Given the description of an element on the screen output the (x, y) to click on. 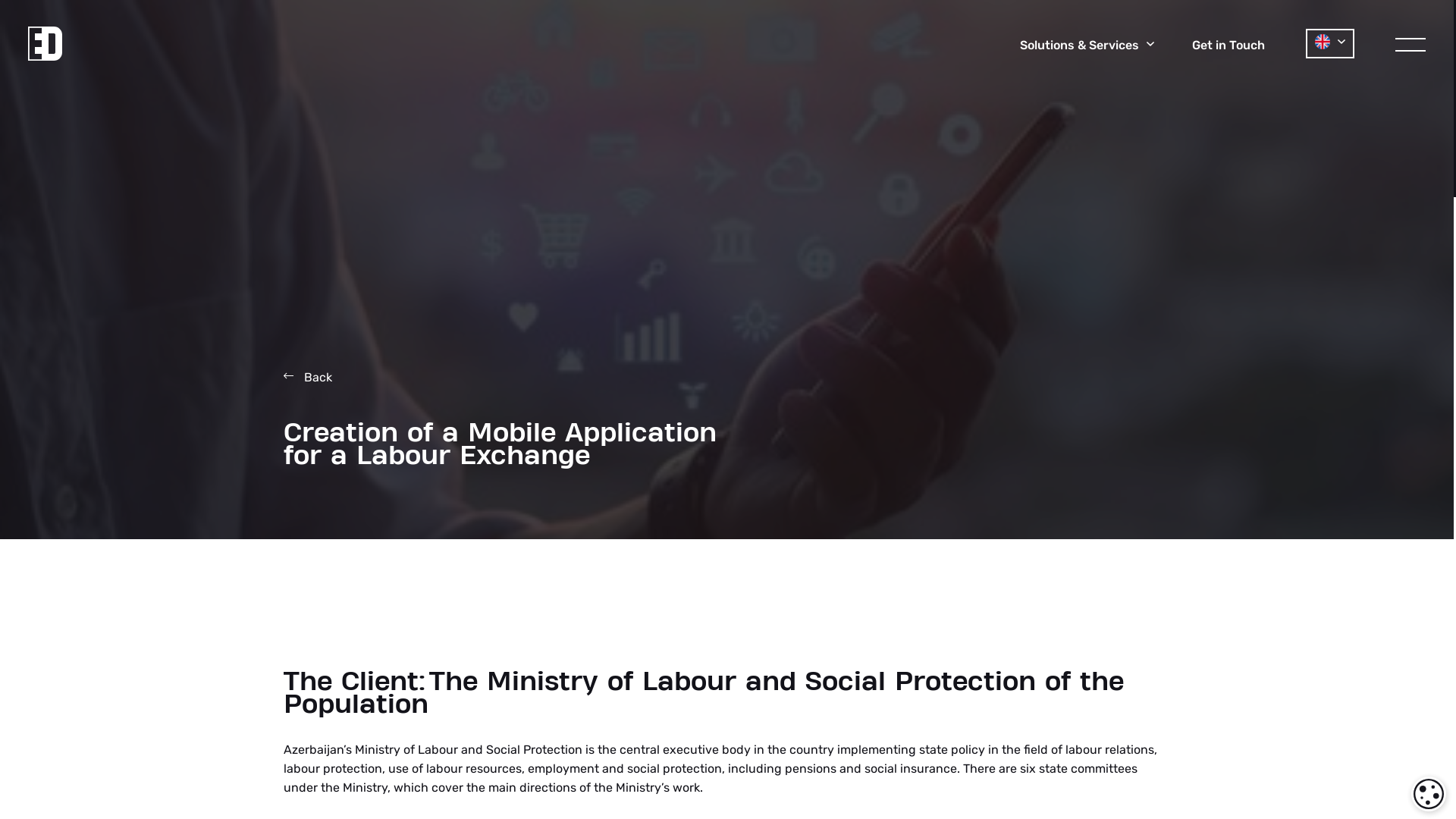
Back Element type: text (307, 377)
Solutions & Services Element type: text (1086, 45)
Get in Touch Element type: text (1228, 44)
